Given the description of an element on the screen output the (x, y) to click on. 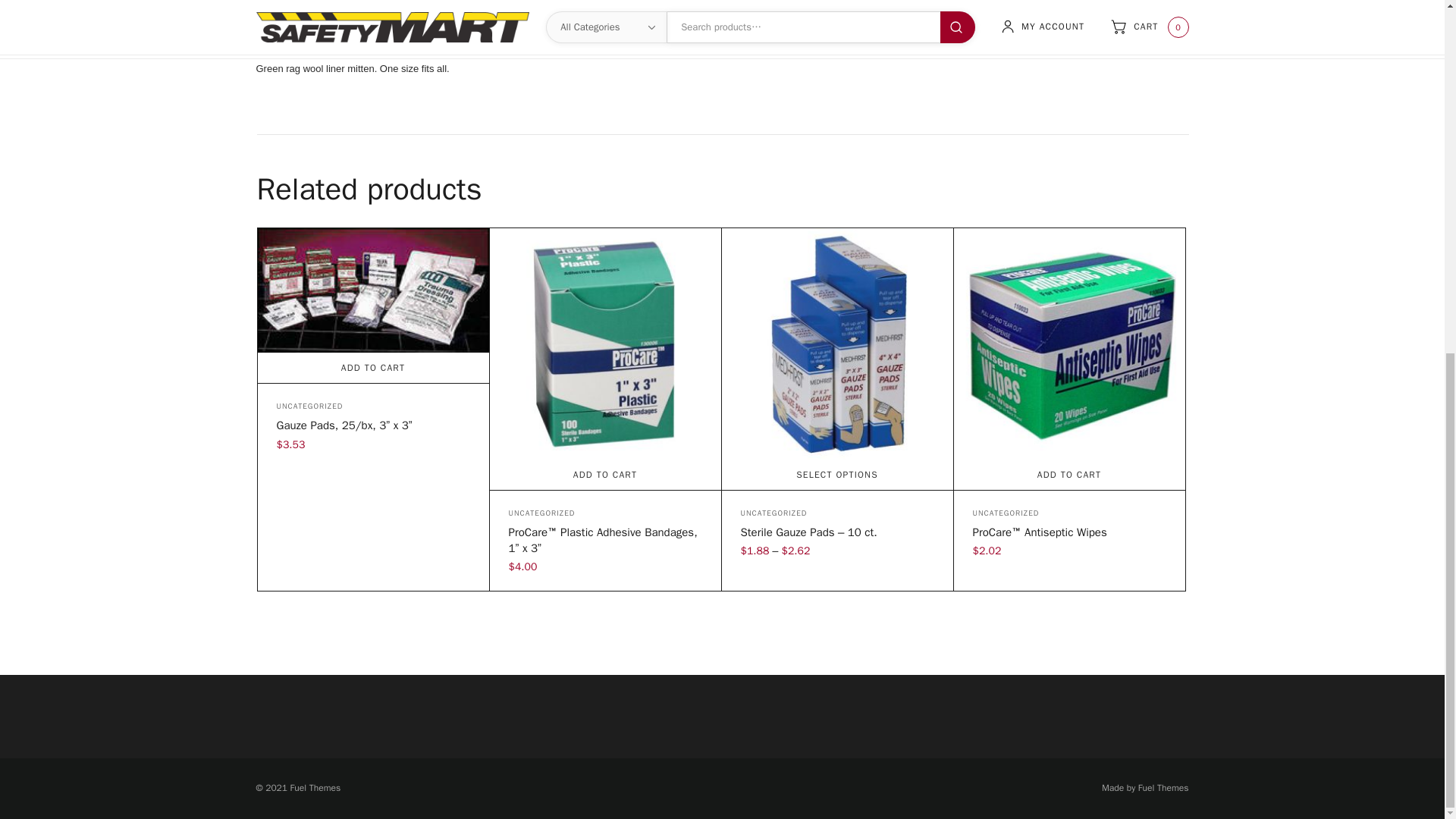
Description (595, 2)
UNCATEGORIZED (309, 406)
ADD TO CART (373, 367)
ADD TO CART (604, 474)
UNCATEGORIZED (1005, 512)
ADD TO CART (1069, 474)
UNCATEGORIZED (772, 512)
Additional information (707, 2)
UNCATEGORIZED (541, 512)
SELECT OPTIONS (837, 474)
